Given the description of an element on the screen output the (x, y) to click on. 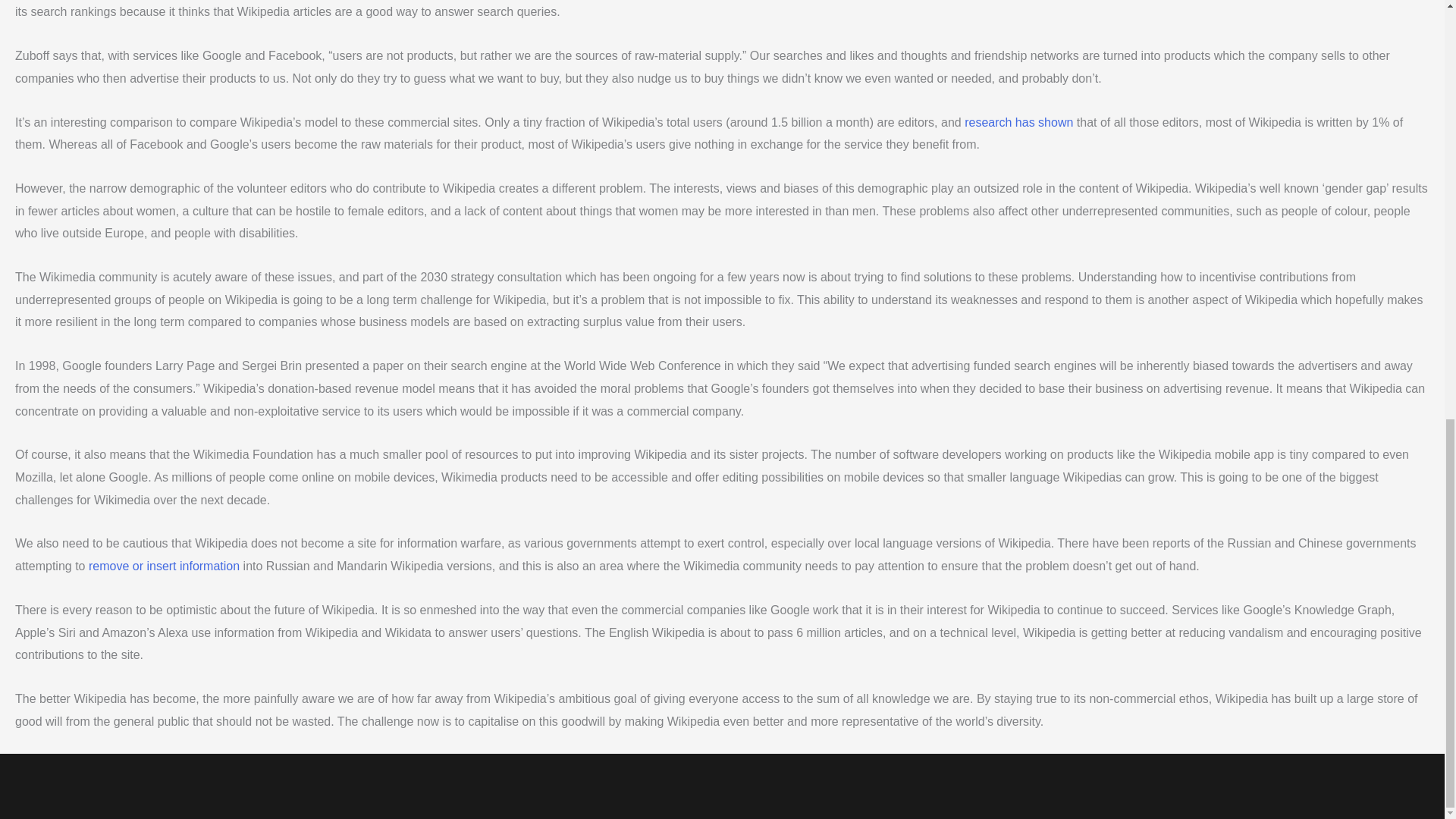
remove or insert information (164, 565)
research has shown (1018, 122)
